Given the description of an element on the screen output the (x, y) to click on. 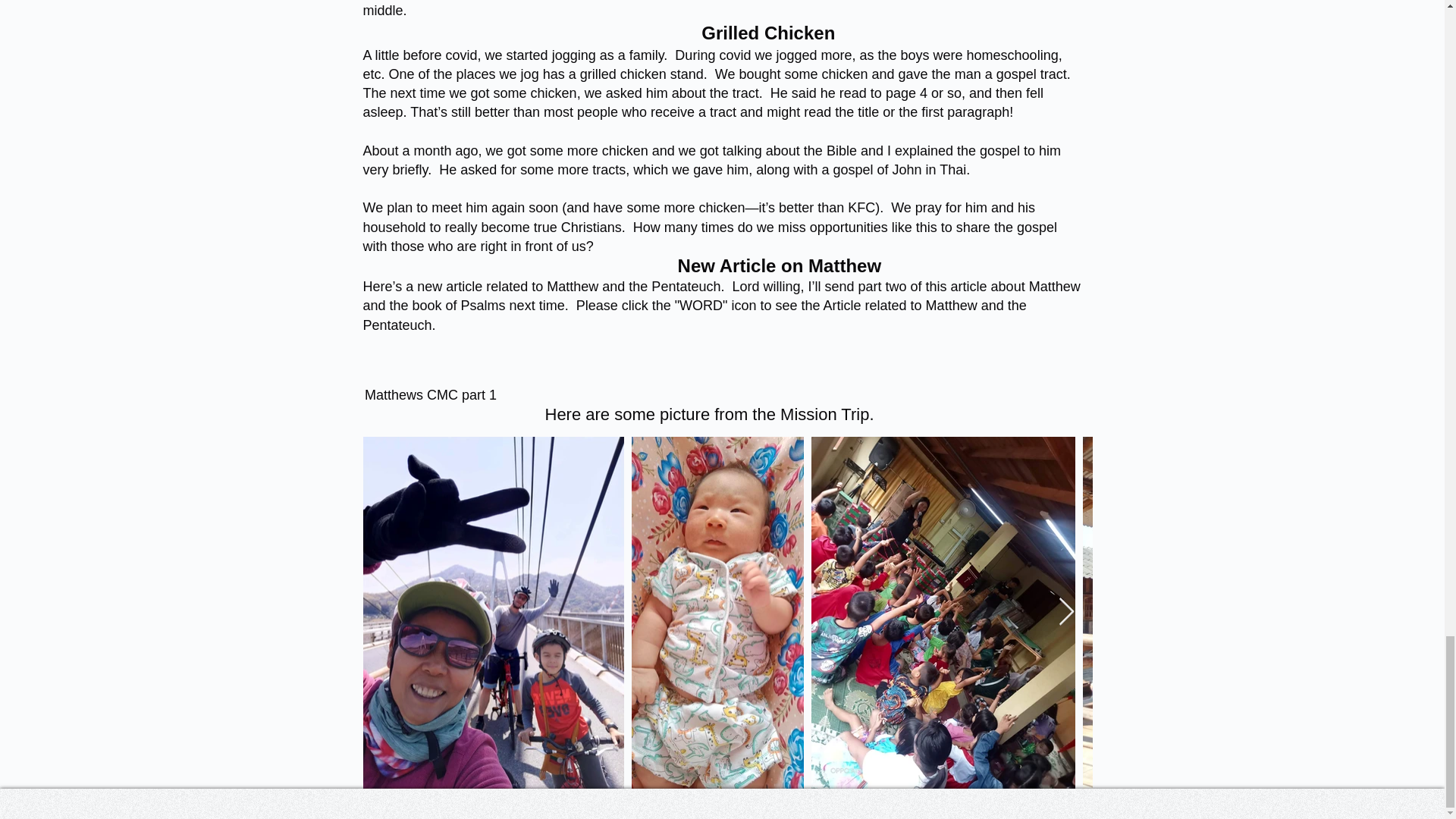
Matthews CMC part 1 (429, 373)
Matthews CMC part 1 (429, 373)
